Given the description of an element on the screen output the (x, y) to click on. 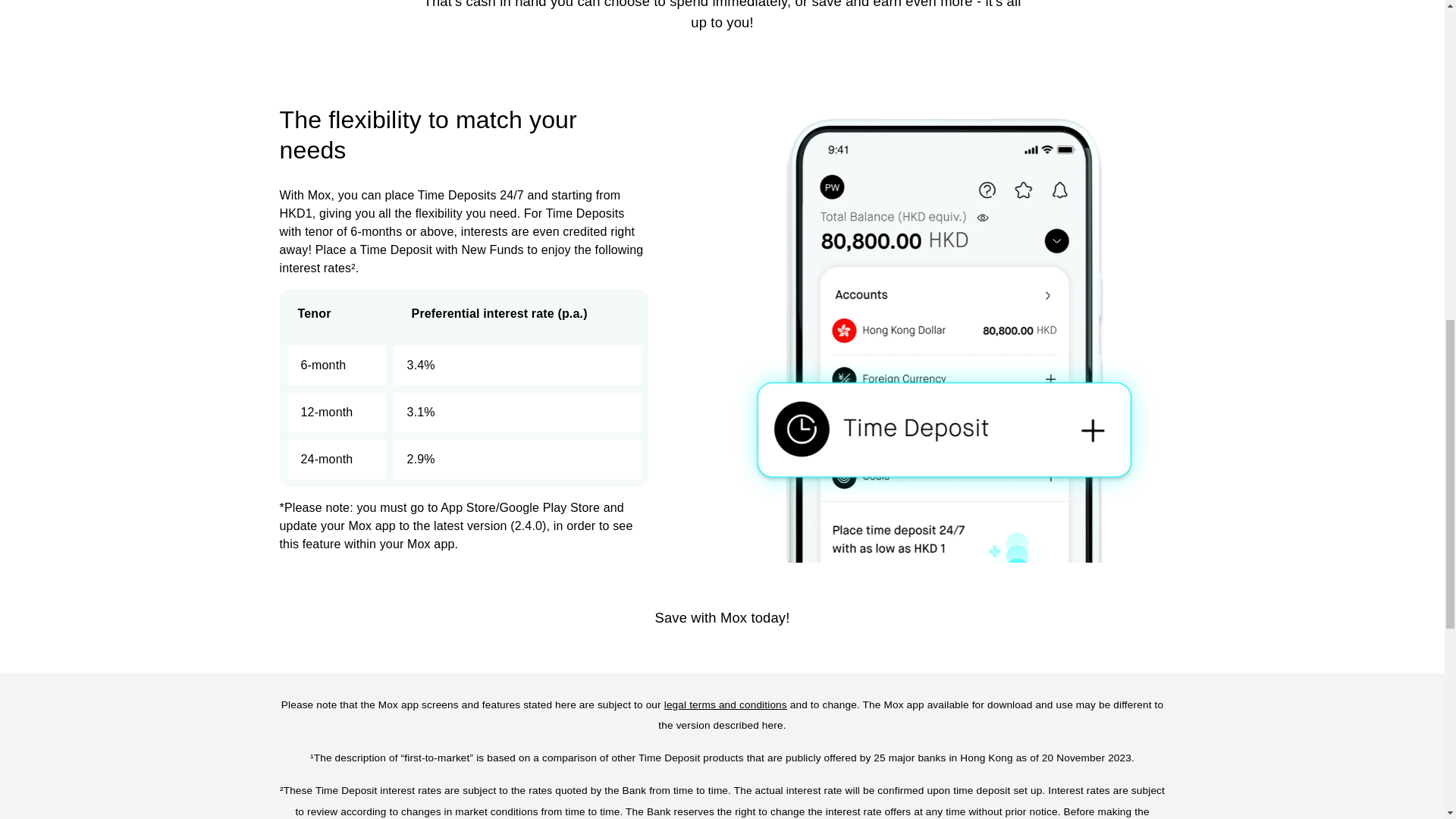
legal terms and conditions (725, 704)
